Given the description of an element on the screen output the (x, y) to click on. 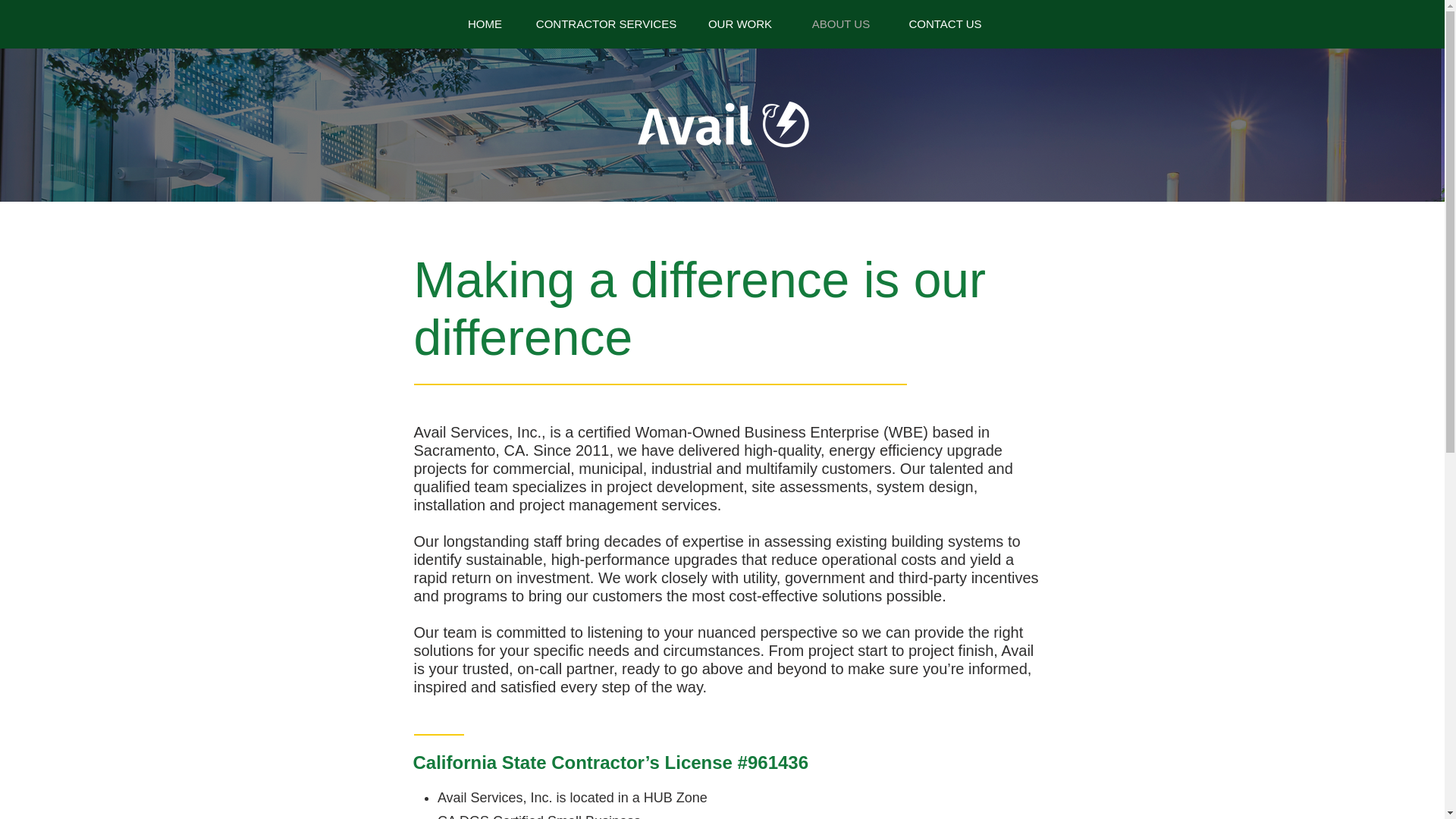
ABOUT US (841, 24)
HOME (483, 24)
CONTACT US (943, 24)
CONTRACTOR SERVICES (605, 24)
OUR WORK (739, 24)
